Given the description of an element on the screen output the (x, y) to click on. 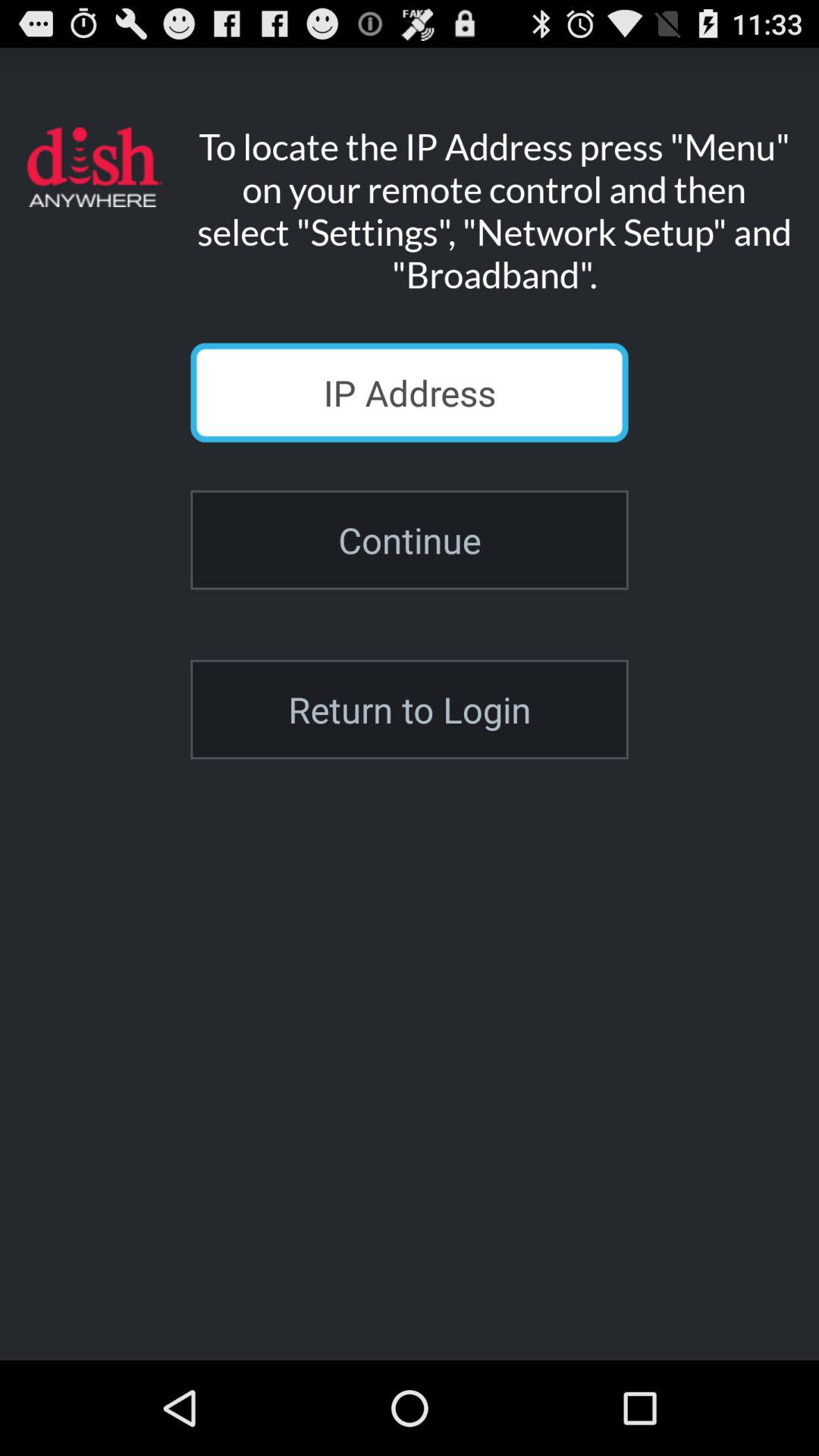
enter ip address (409, 392)
